Given the description of an element on the screen output the (x, y) to click on. 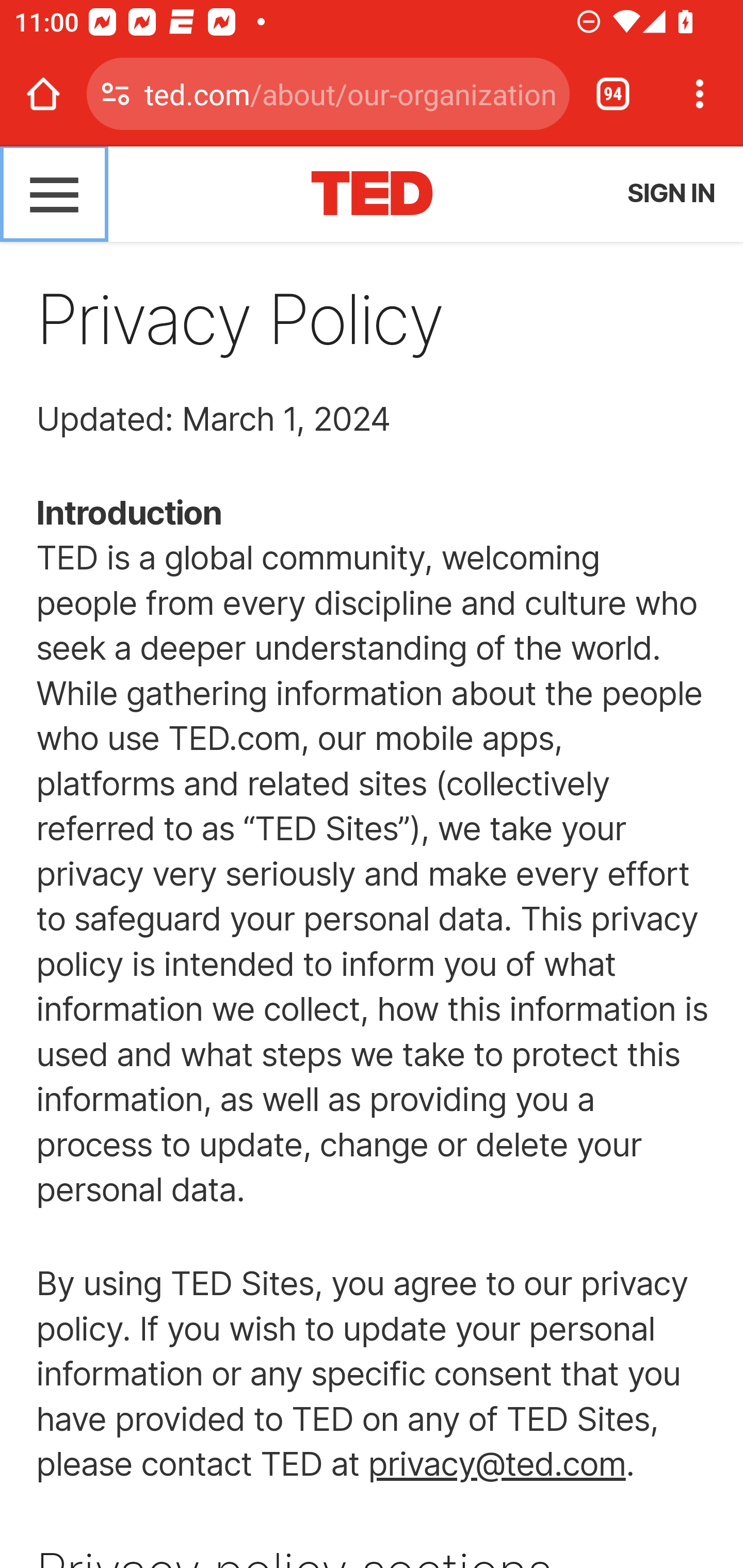
Open the home page (43, 93)
Connection is secure (115, 93)
Switch or close tabs (612, 93)
Customize and control Google Chrome (699, 93)
Main menu (54, 193)
TED (372, 193)
SIGN IN (670, 193)
privacy@ted.com (496, 1464)
